Given the description of an element on the screen output the (x, y) to click on. 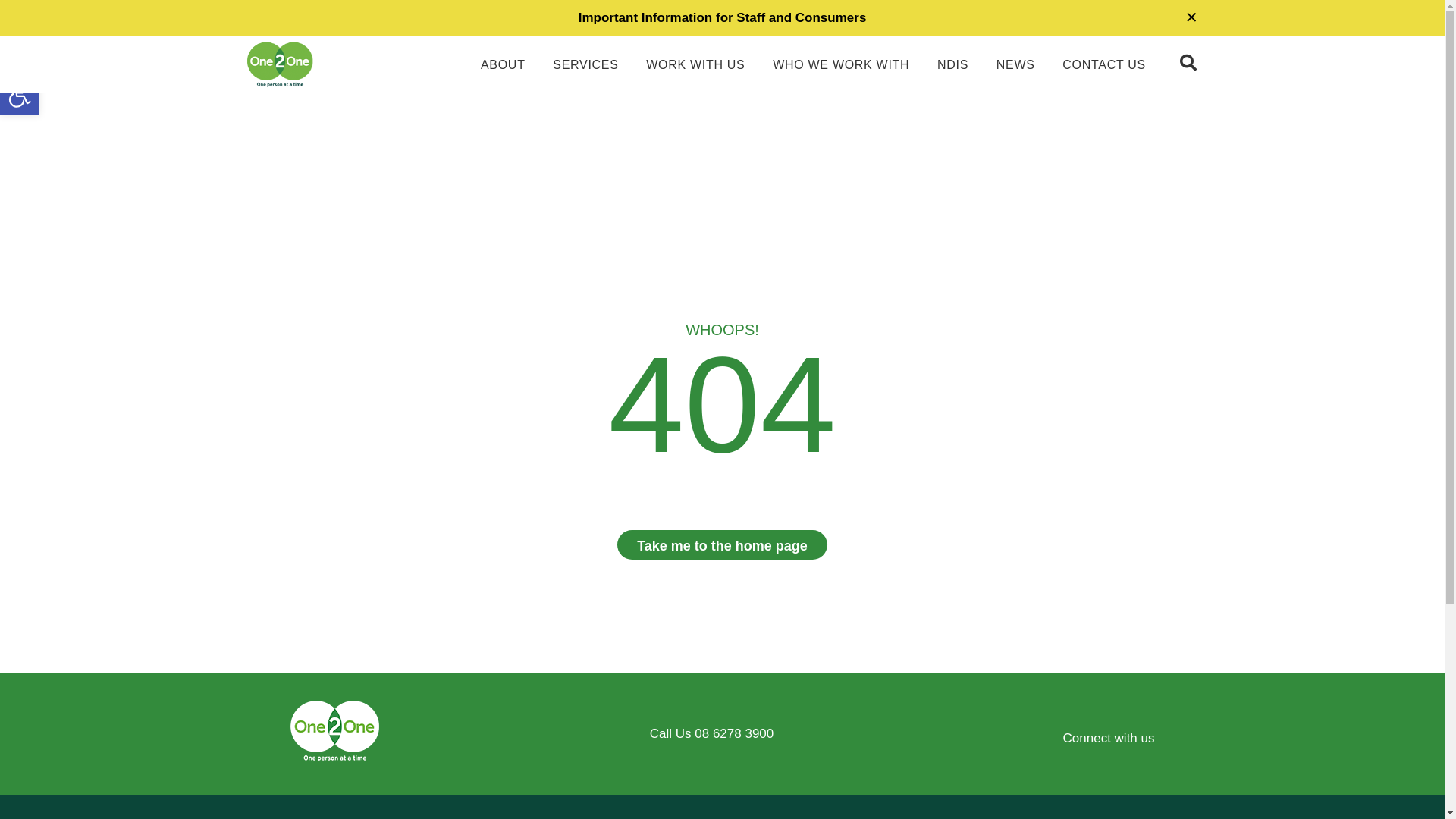
Connect with us Element type: text (1108, 738)
ABOUT Element type: text (502, 64)
WHO WE WORK WITH Element type: text (840, 64)
Open toolbar Element type: text (19, 95)
WORK WITH US Element type: text (695, 64)
Take me to the home page Element type: text (722, 543)
NDIS Element type: text (952, 64)
Important Information for Staff and Consumers Element type: text (722, 17)
SEARCH Element type: text (1189, 62)
CONTACT US Element type: text (1103, 64)
NEWS Element type: text (1015, 64)
SERVICES Element type: text (585, 64)
08 6278 3900 Element type: text (733, 733)
